Given the description of an element on the screen output the (x, y) to click on. 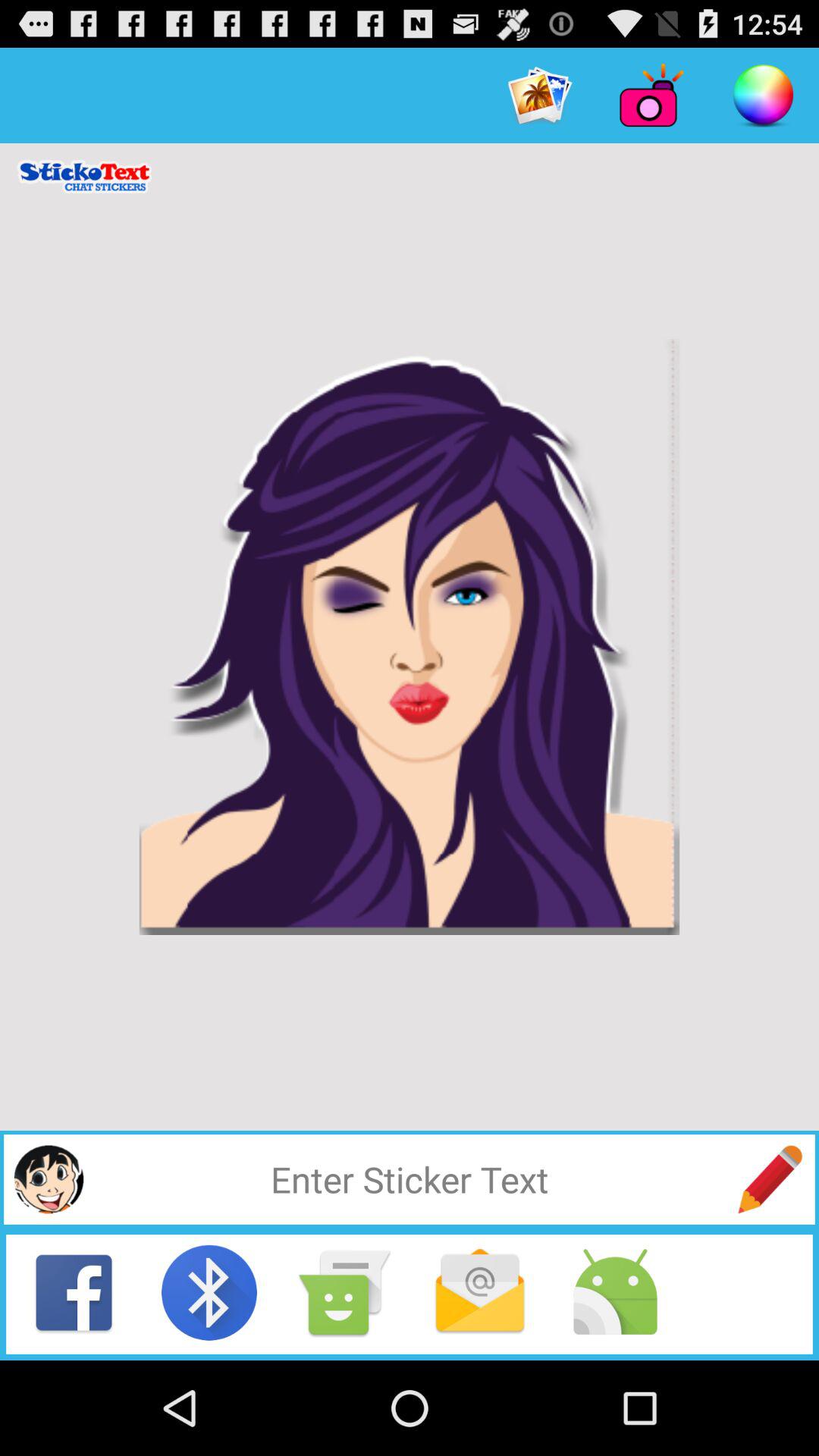
see messages (479, 1292)
